Given the description of an element on the screen output the (x, y) to click on. 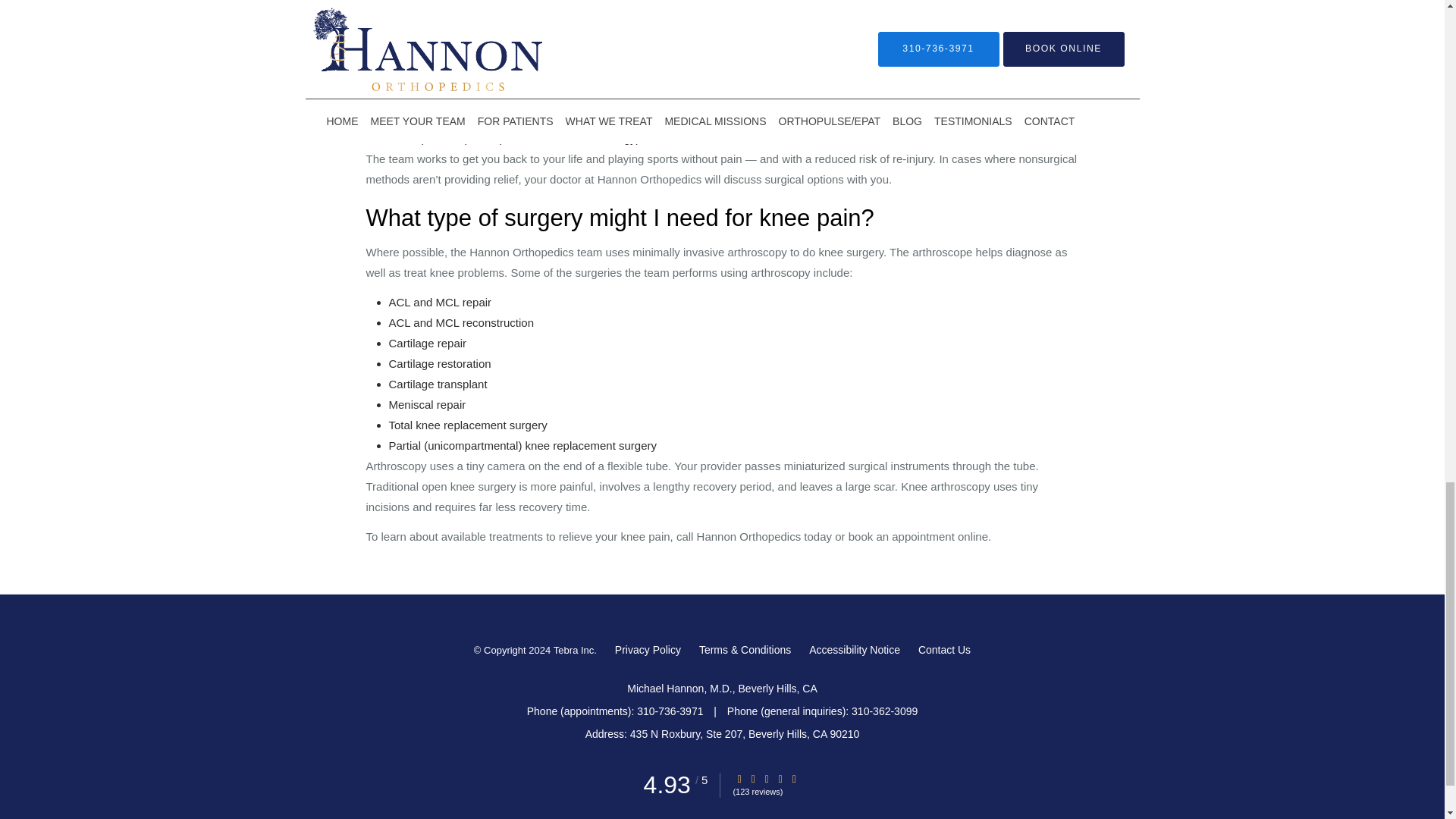
Tebra Inc (573, 650)
Contact Us (944, 649)
Star Rating (753, 778)
Star Rating (794, 778)
Star Rating (780, 778)
Star Rating (766, 778)
Accessibility Notice (854, 649)
Privacy Policy (647, 649)
Star Rating (738, 778)
